Given the description of an element on the screen output the (x, y) to click on. 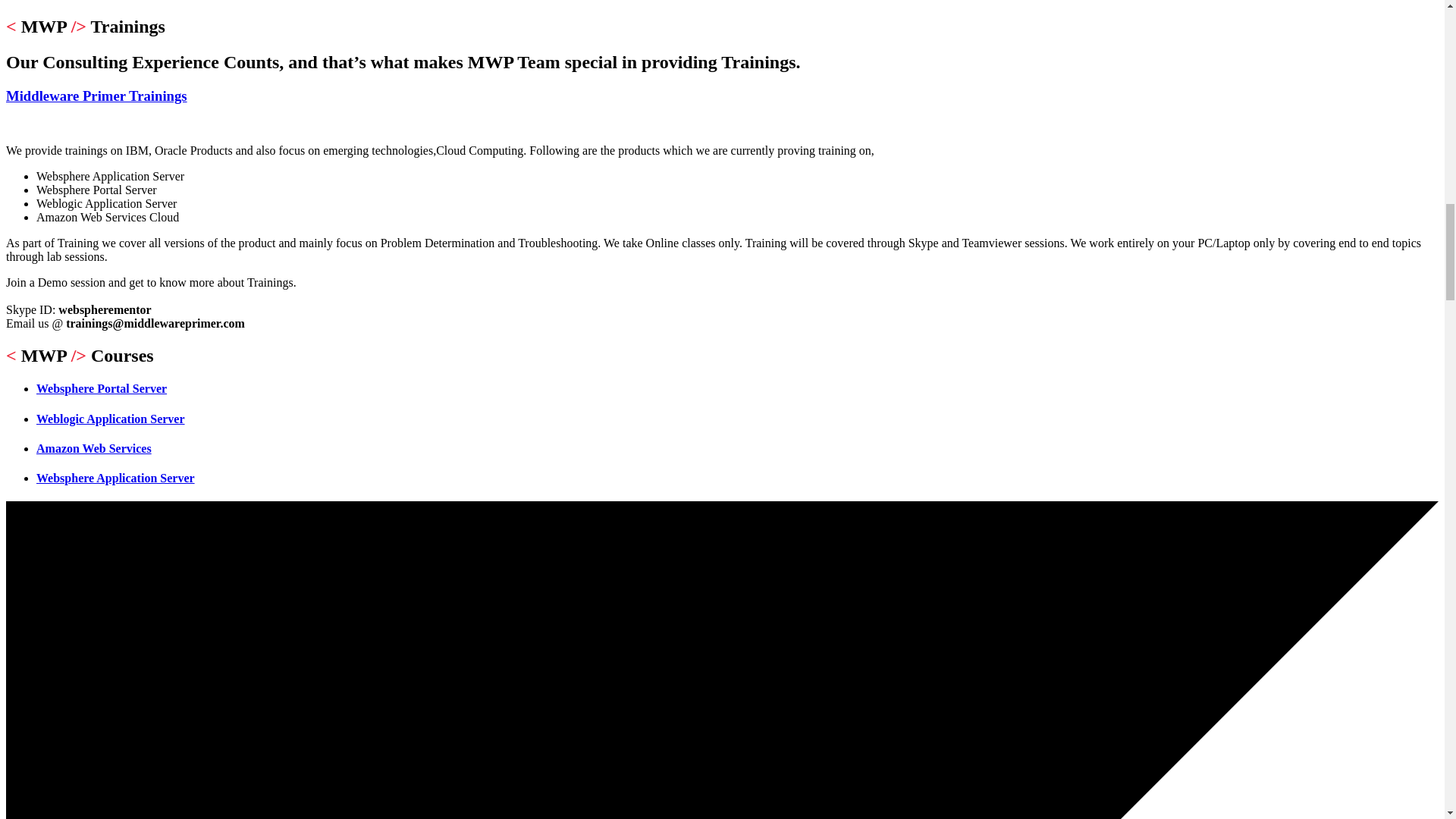
Weblogic Application Server (110, 418)
Amazon Web Services (93, 448)
Middleware Primer Trainings (96, 95)
Websphere Portal Server (101, 388)
Websphere Application Server (115, 477)
